Given the description of an element on the screen output the (x, y) to click on. 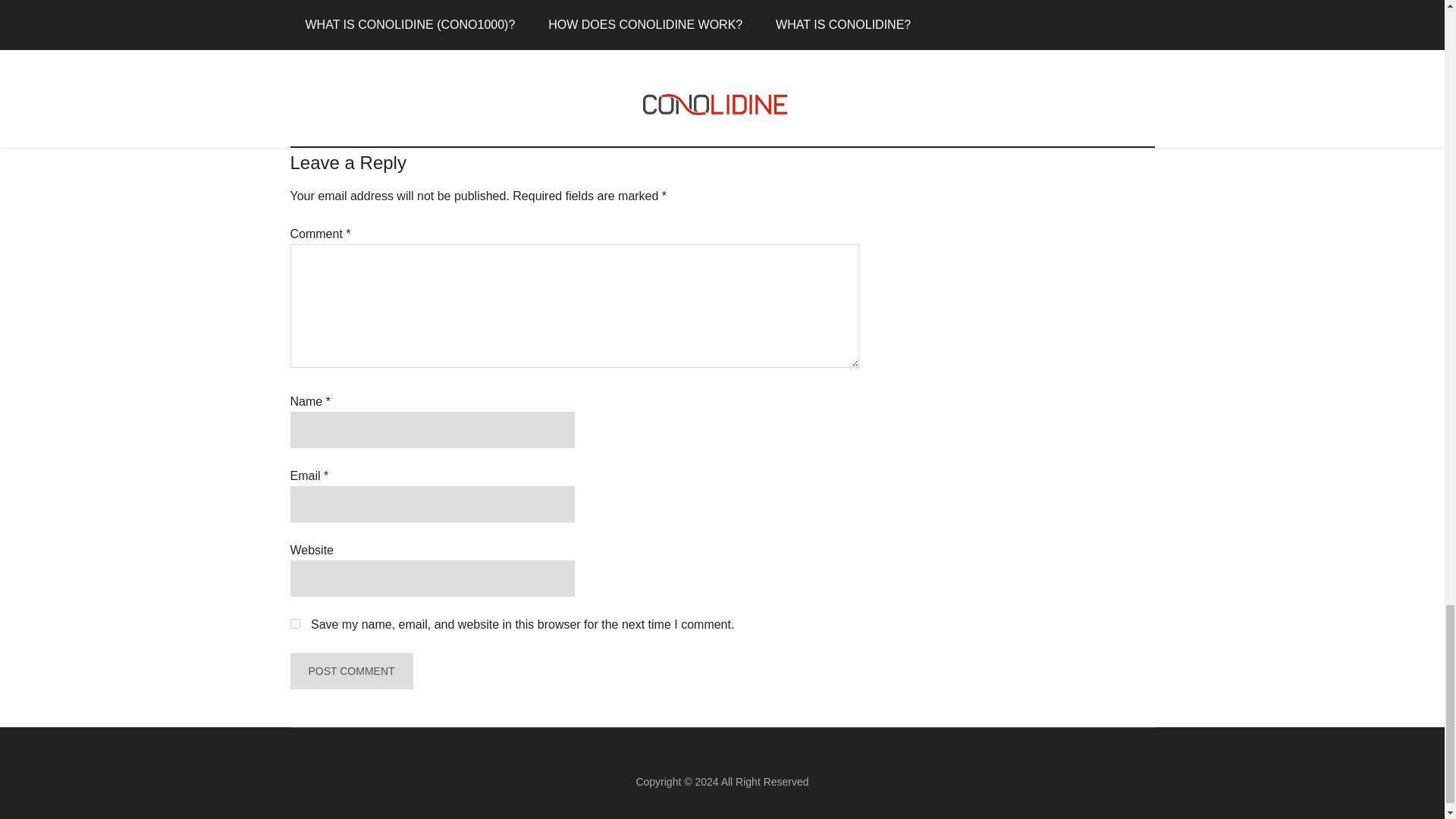
yes (294, 623)
Post Comment (350, 670)
Click to share on Reddit (392, 19)
painkillers (579, 79)
Click to share on Facebook (331, 19)
Click to share on Twitter (301, 19)
Natural Wellness (421, 61)
General (363, 61)
Post Comment (350, 670)
Conolidine (373, 79)
Conolidine pain reliever (454, 79)
Click to share on LinkedIn (422, 19)
Click to share on Pinterest (362, 19)
painkiller (531, 79)
